Given the description of an element on the screen output the (x, y) to click on. 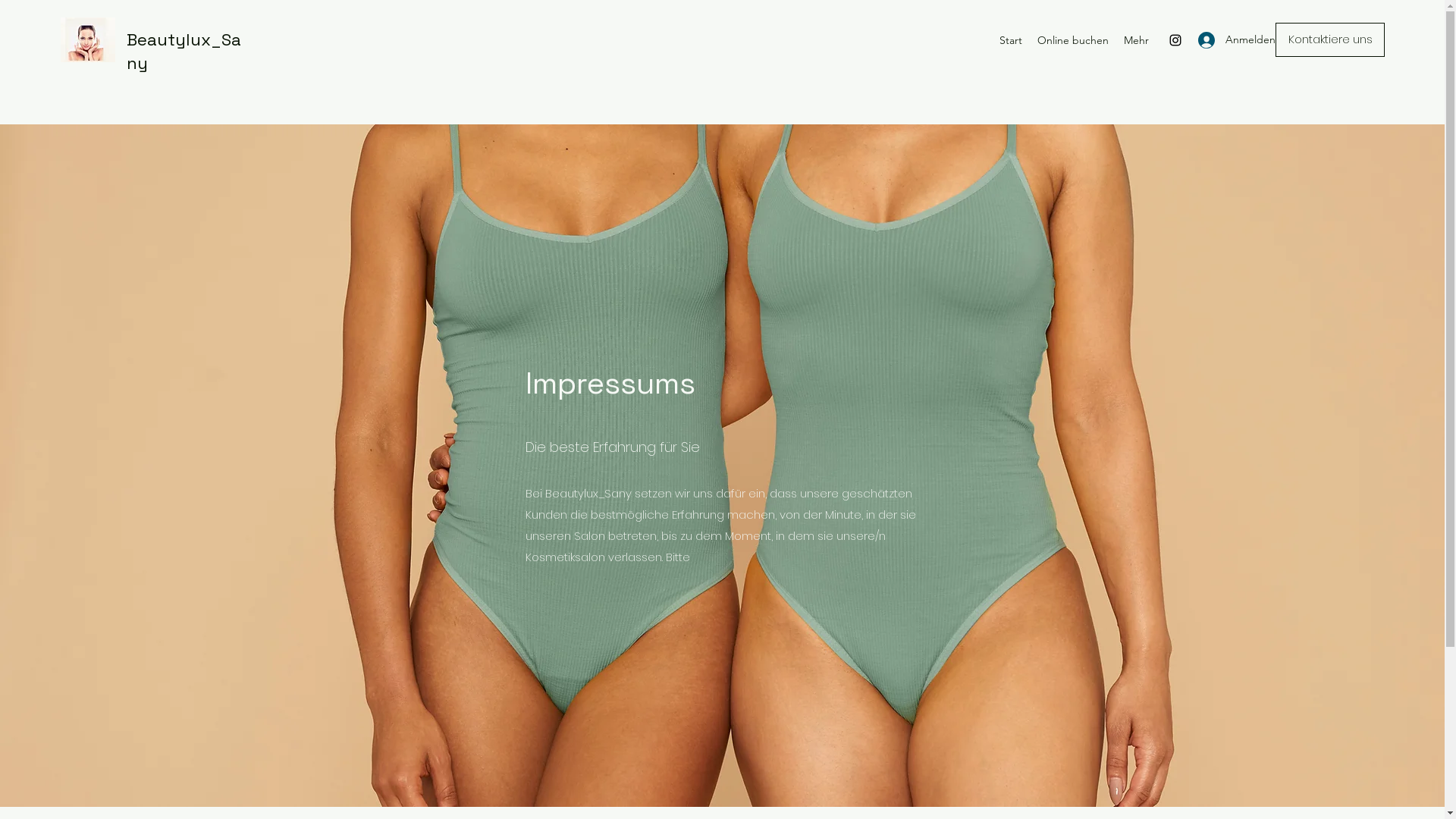
Anmelden Element type: text (1221, 39)
Start Element type: text (1010, 39)
Online buchen Element type: text (1072, 39)
